Given the description of an element on the screen output the (x, y) to click on. 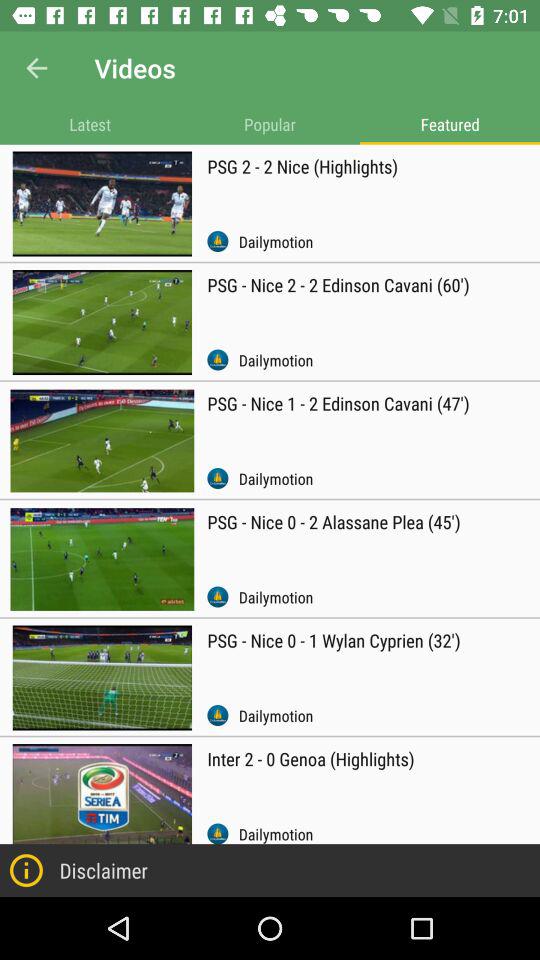
open item to the left of videos icon (36, 68)
